Given the description of an element on the screen output the (x, y) to click on. 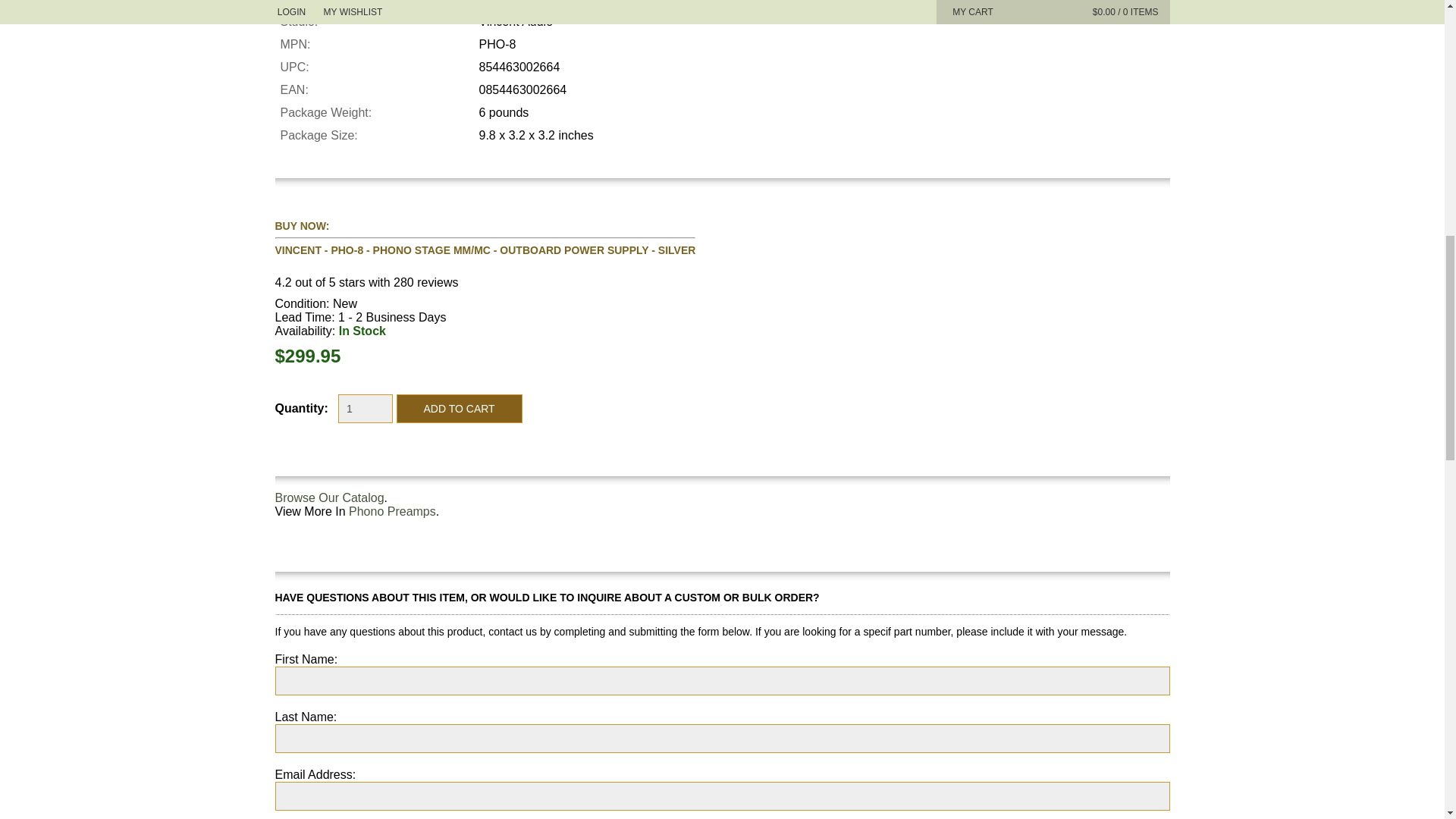
Phono Preamps (392, 511)
1 (365, 408)
Browse Our Catalog (329, 497)
ADD TO CART (459, 408)
